Given the description of an element on the screen output the (x, y) to click on. 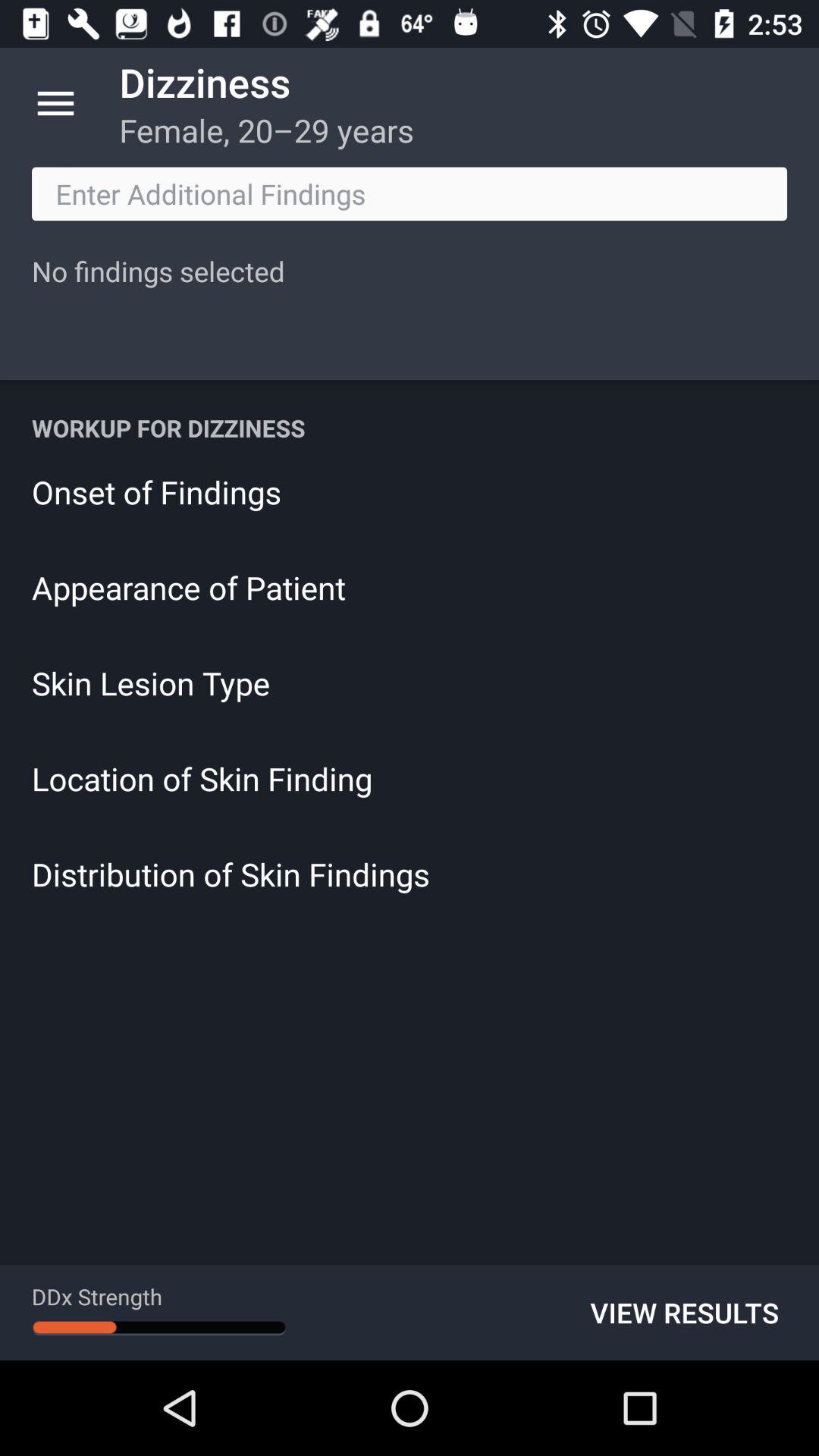
press skin lesion type item (409, 682)
